Given the description of an element on the screen output the (x, y) to click on. 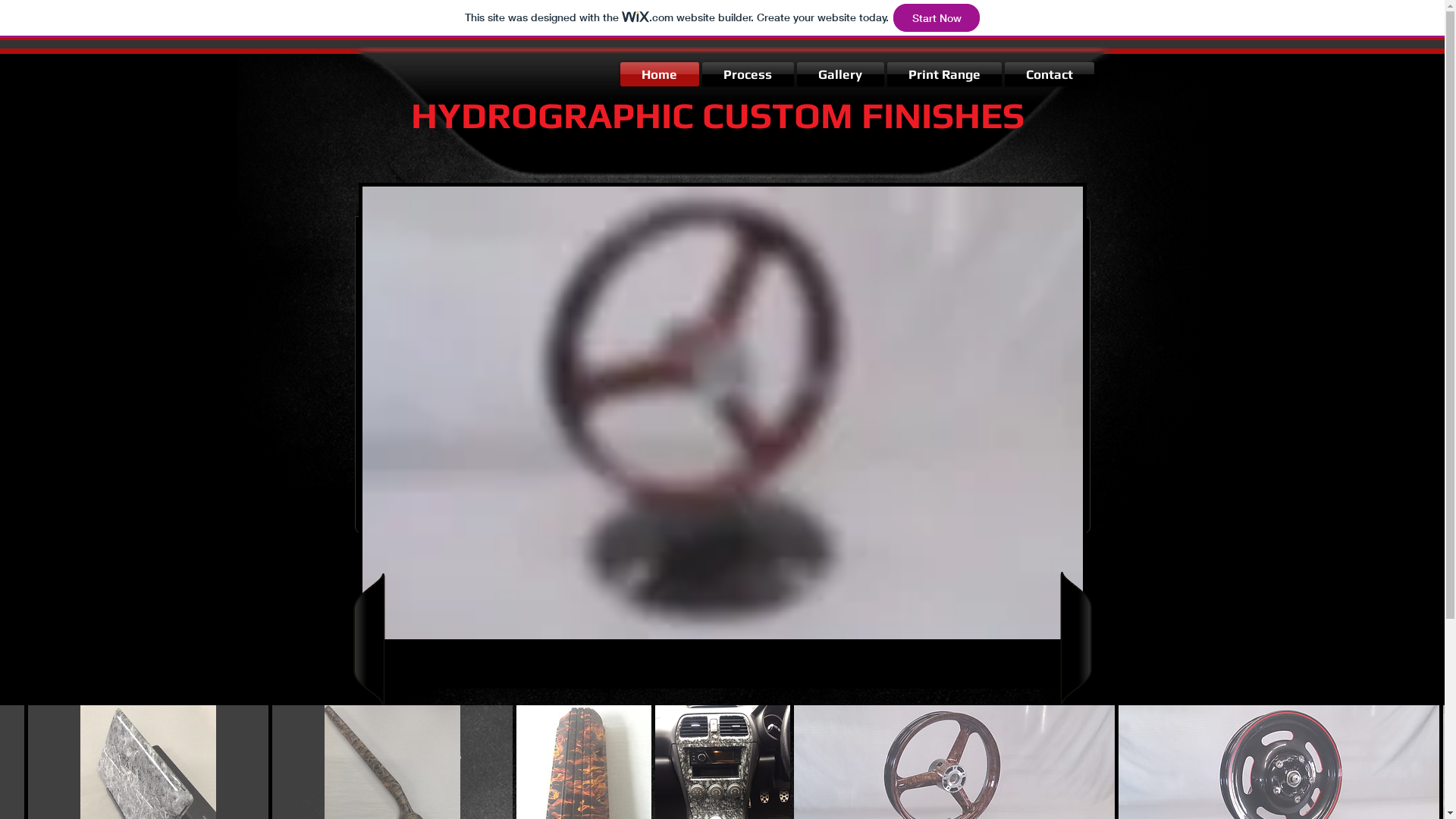
Contact Element type: text (1047, 74)
Print Range Element type: text (944, 74)
Gallery Element type: text (839, 74)
Home Element type: text (660, 74)
Process Element type: text (747, 74)
